Given the description of an element on the screen output the (x, y) to click on. 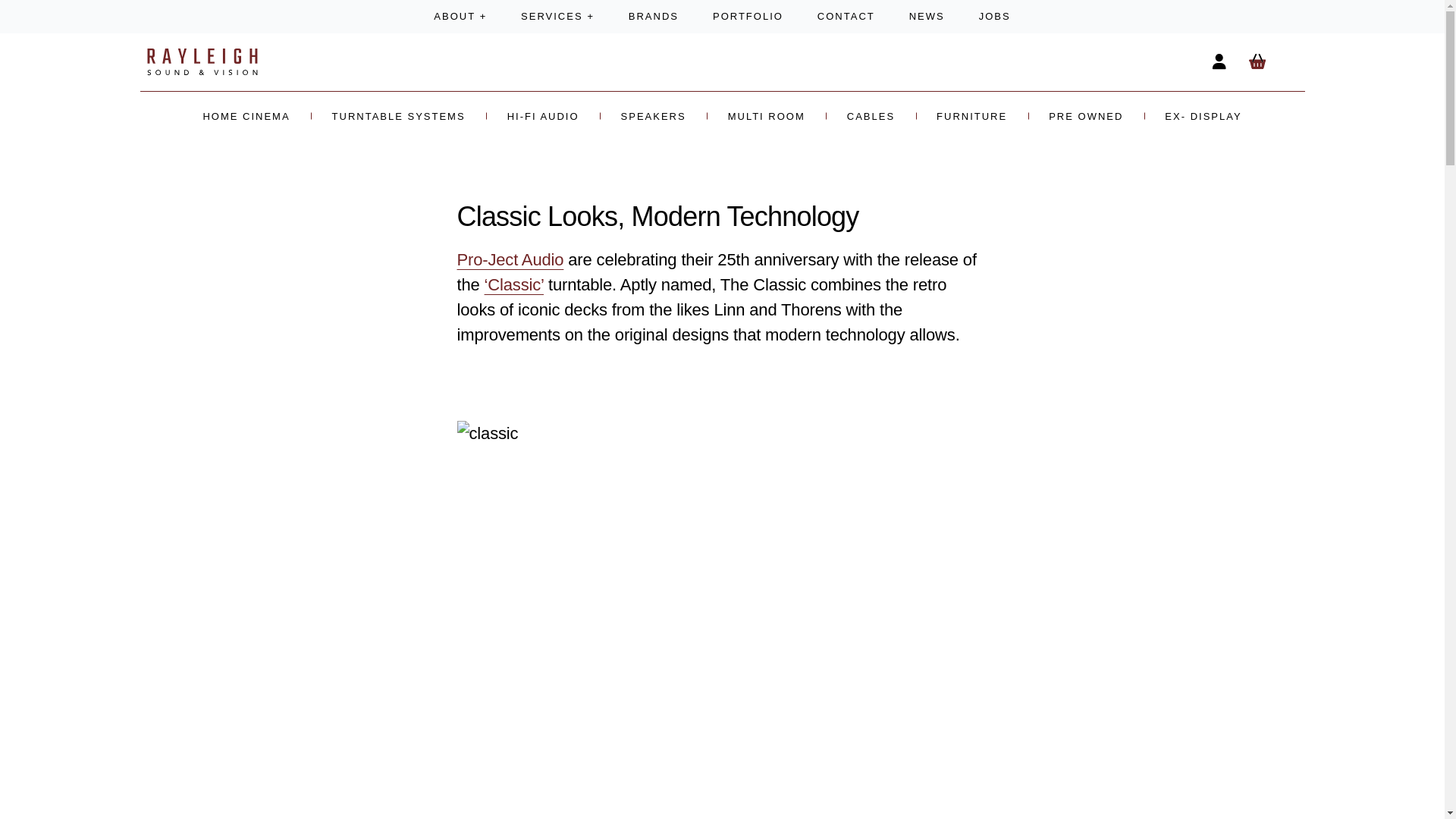
HOME CINEMA (246, 115)
Services (557, 16)
PORTFOLIO (747, 16)
About (459, 16)
News (925, 16)
CONTACT (845, 16)
Brands (653, 16)
JOBS (993, 16)
Home Cinema (246, 115)
BRANDS (653, 16)
